Given the description of an element on the screen output the (x, y) to click on. 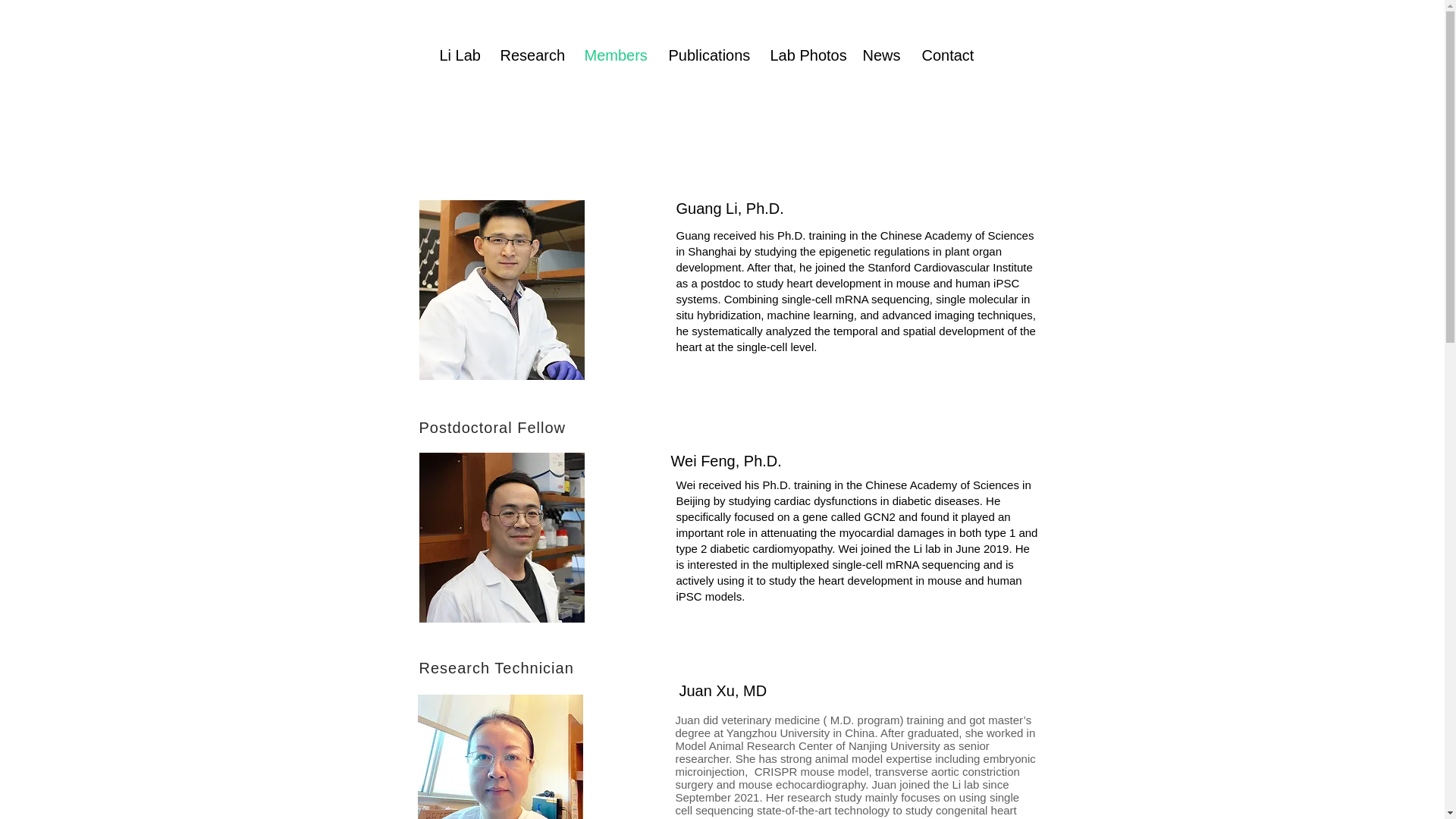
Li Lab (457, 55)
Lab Photos (804, 55)
Research (529, 55)
Publications (707, 55)
News (880, 55)
Contact (945, 55)
Members (615, 55)
